Given the description of an element on the screen output the (x, y) to click on. 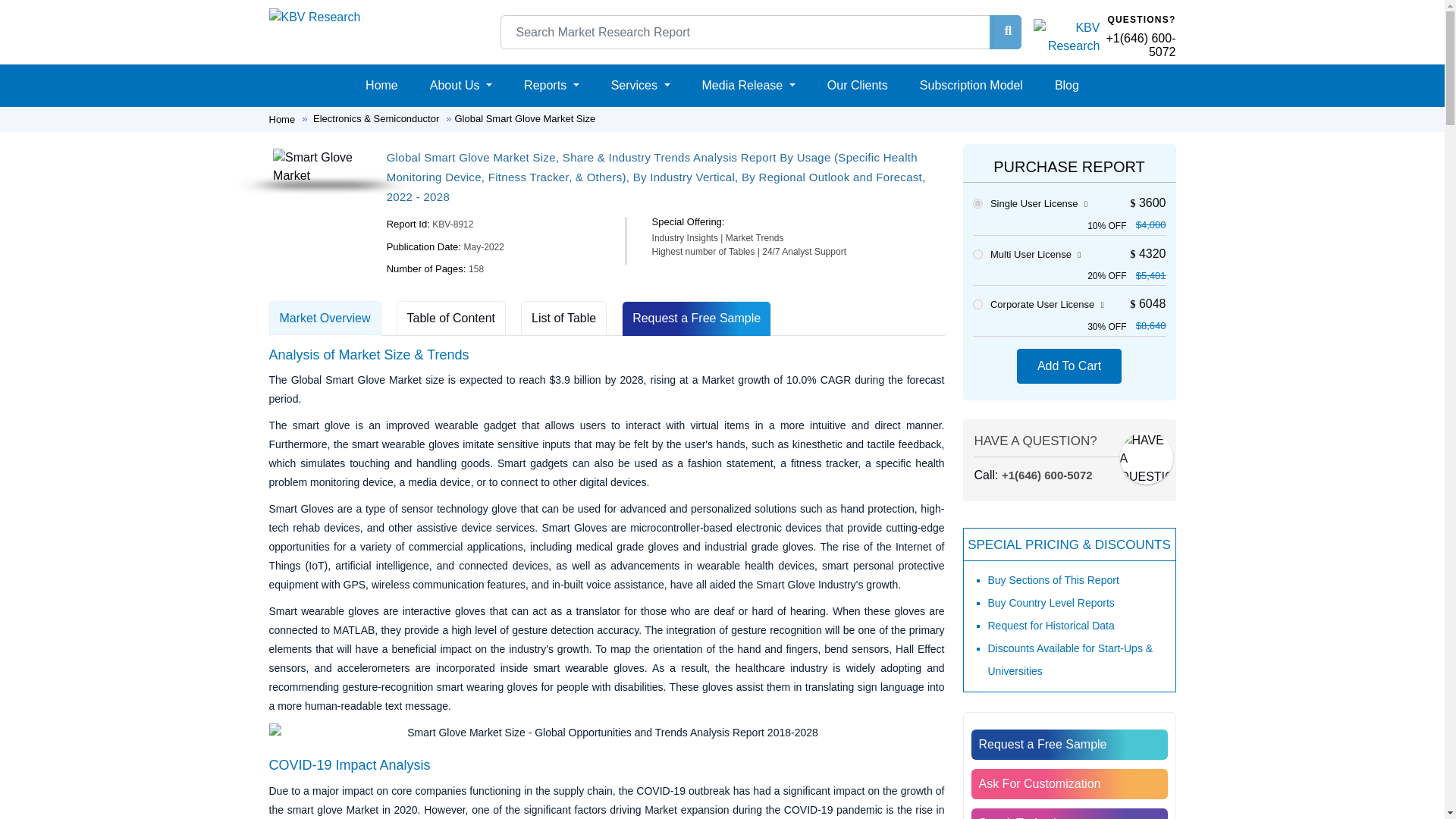
Our Clients (857, 85)
Smart Glove Market (319, 166)
6048 (976, 304)
About Us (460, 85)
KBV Research (1066, 36)
Blog (1066, 85)
Media Release (748, 85)
Reports (551, 85)
Home (381, 85)
